Given the description of an element on the screen output the (x, y) to click on. 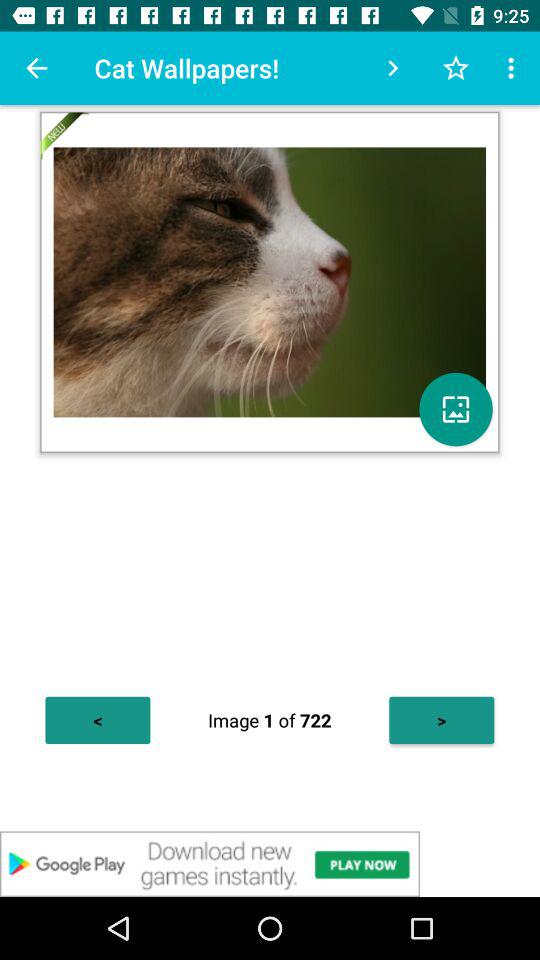
expands to full-screen (455, 409)
